Given the description of an element on the screen output the (x, y) to click on. 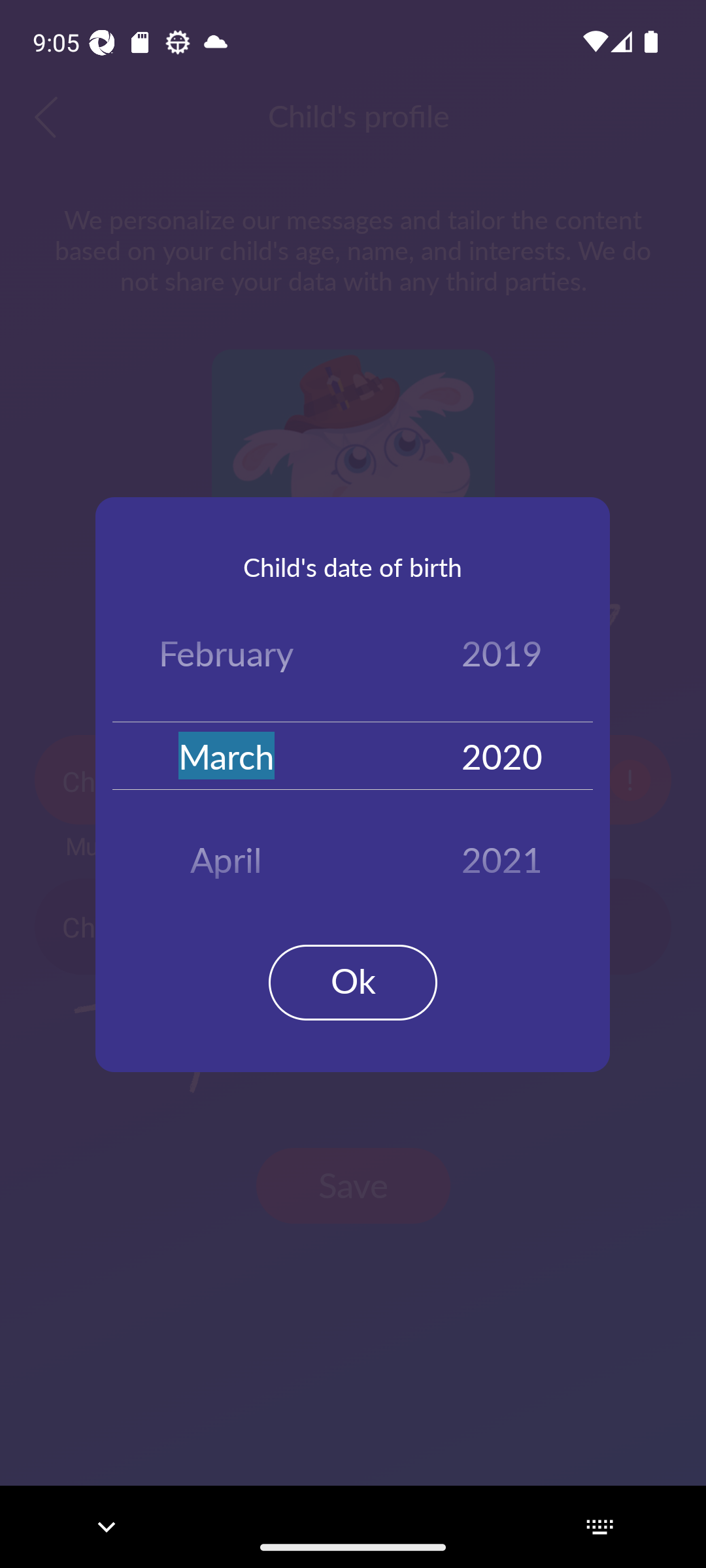
February (226, 656)
2019 (501, 656)
March (226, 754)
2020 (501, 754)
April (226, 852)
2021 (501, 852)
Ok (352, 981)
